Given the description of an element on the screen output the (x, y) to click on. 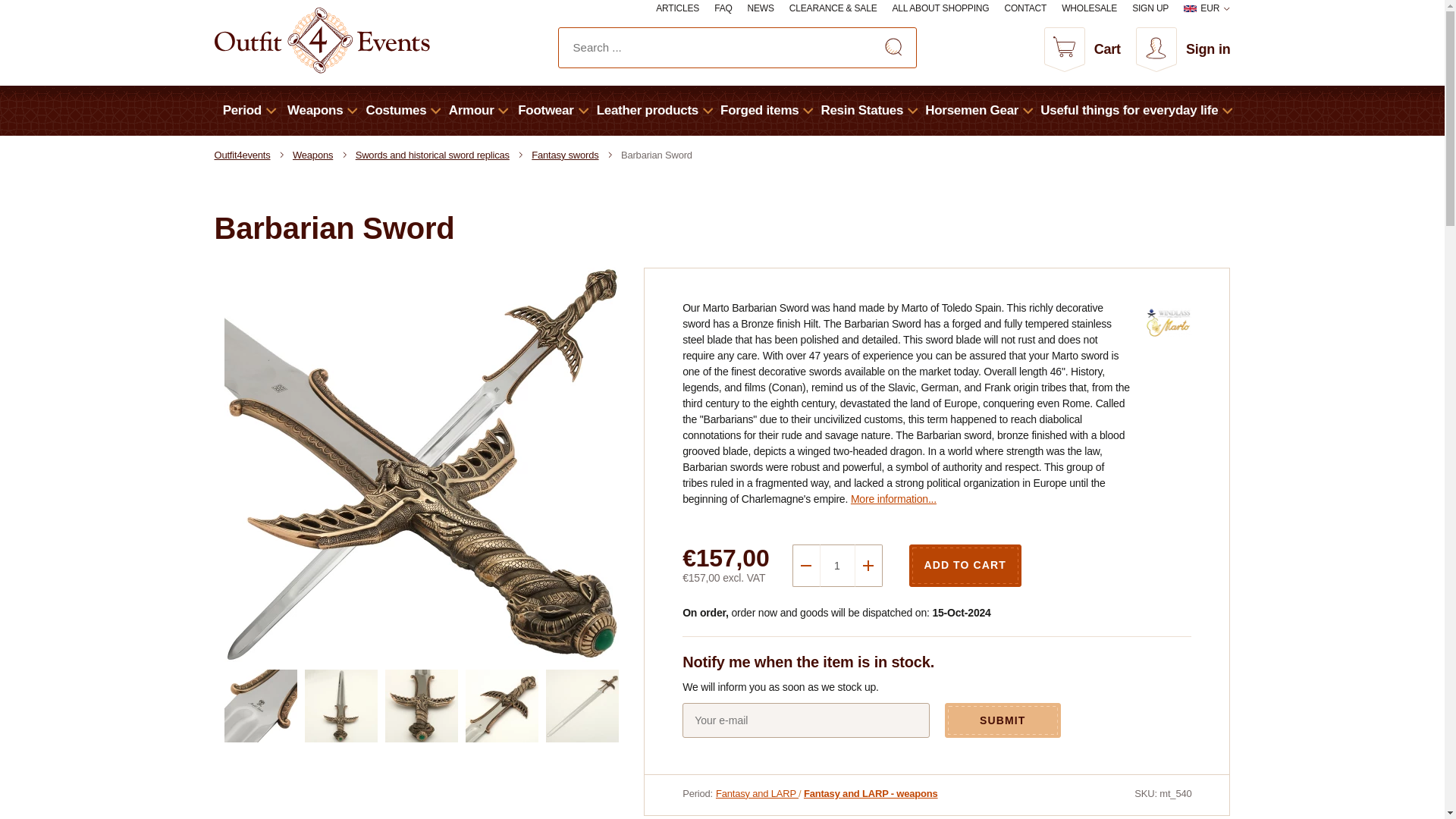
FAQ (723, 8)
CONTACT (1025, 8)
More information... (893, 499)
Sign in (1182, 49)
SIGN UP (1150, 8)
ARTICLES (677, 8)
Cart (1082, 49)
ALL ABOUT SHOPPING (939, 8)
WHOLESALE (1088, 8)
NEWS (761, 8)
